Given the description of an element on the screen output the (x, y) to click on. 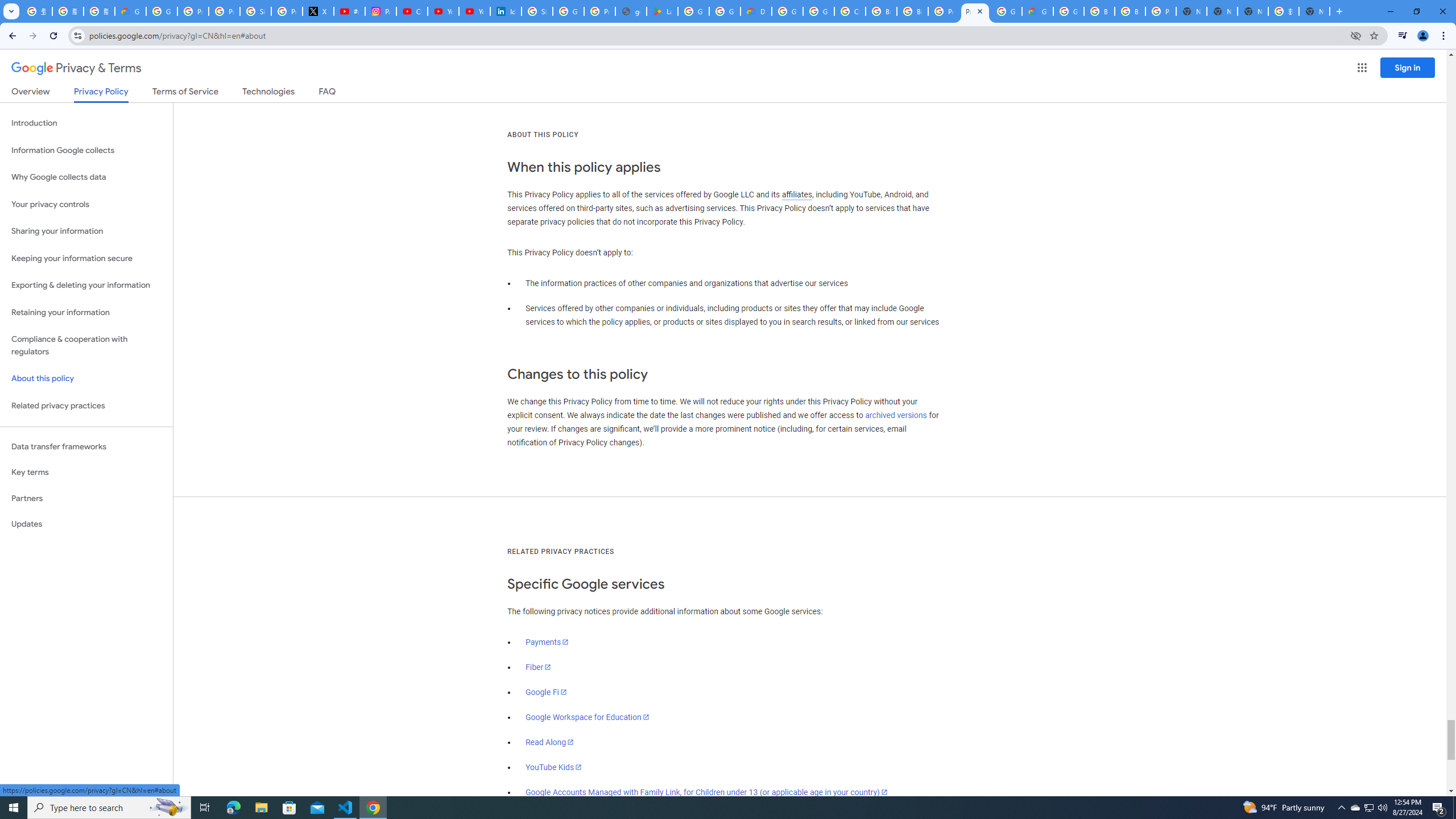
Privacy Help Center - Policies Help (223, 11)
Google Cloud Platform (787, 11)
Partners (86, 497)
#nbabasketballhighlights - YouTube (349, 11)
affiliates (796, 194)
Payments (547, 642)
New Tab (1190, 11)
